Given the description of an element on the screen output the (x, y) to click on. 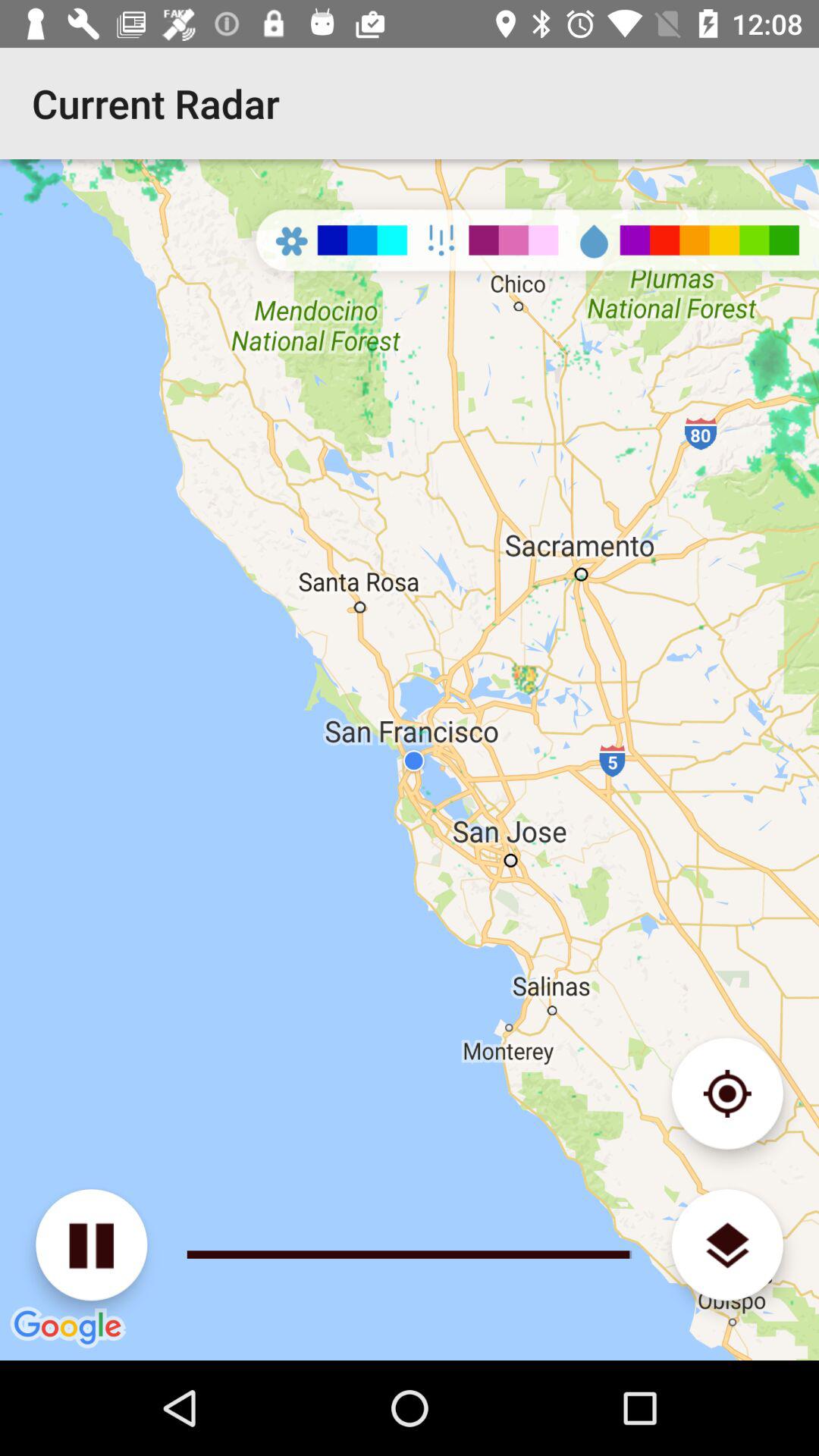
turn off icon below the current radar (409, 759)
